Given the description of an element on the screen output the (x, y) to click on. 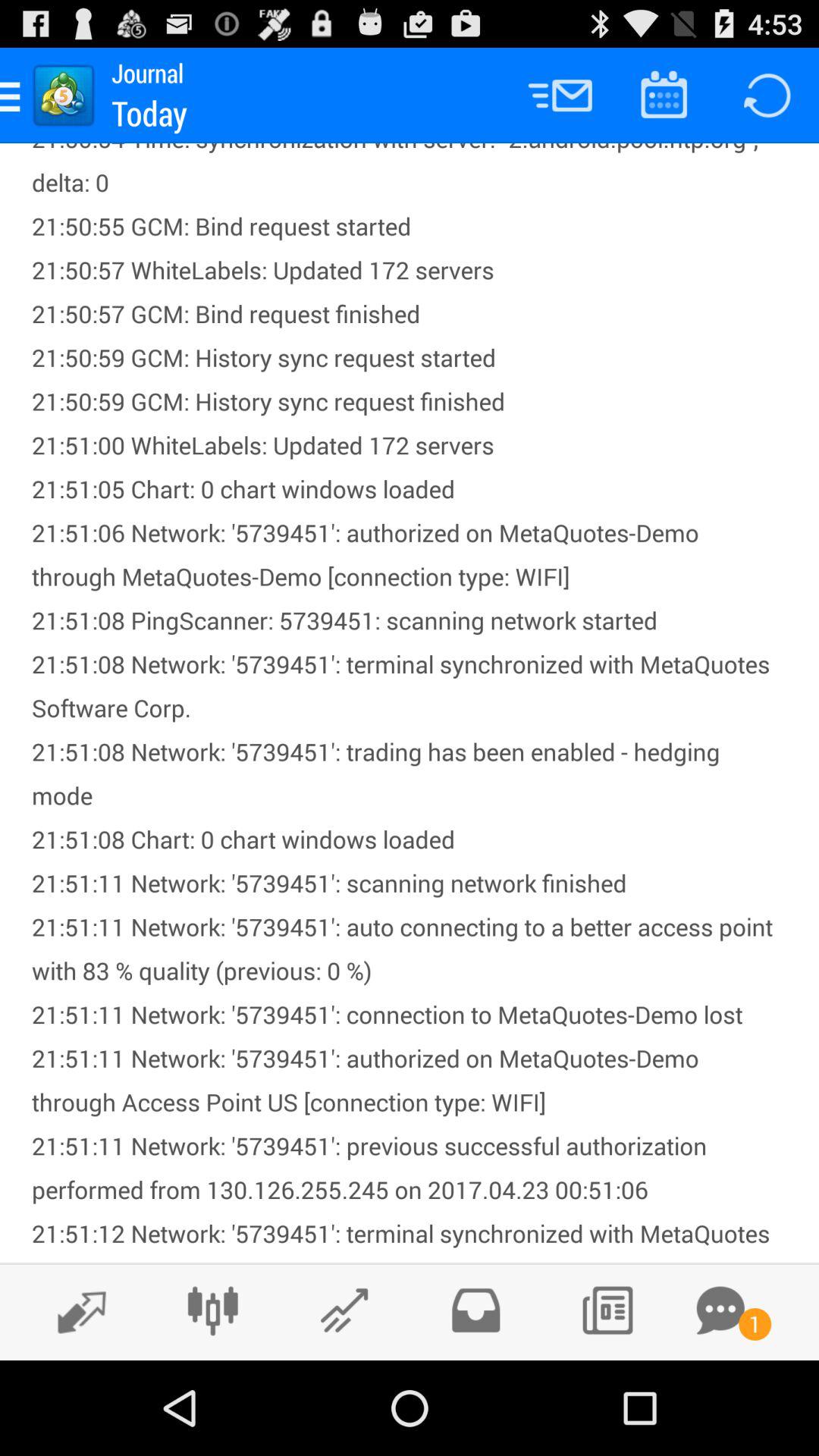
read messages (720, 1310)
